Given the description of an element on the screen output the (x, y) to click on. 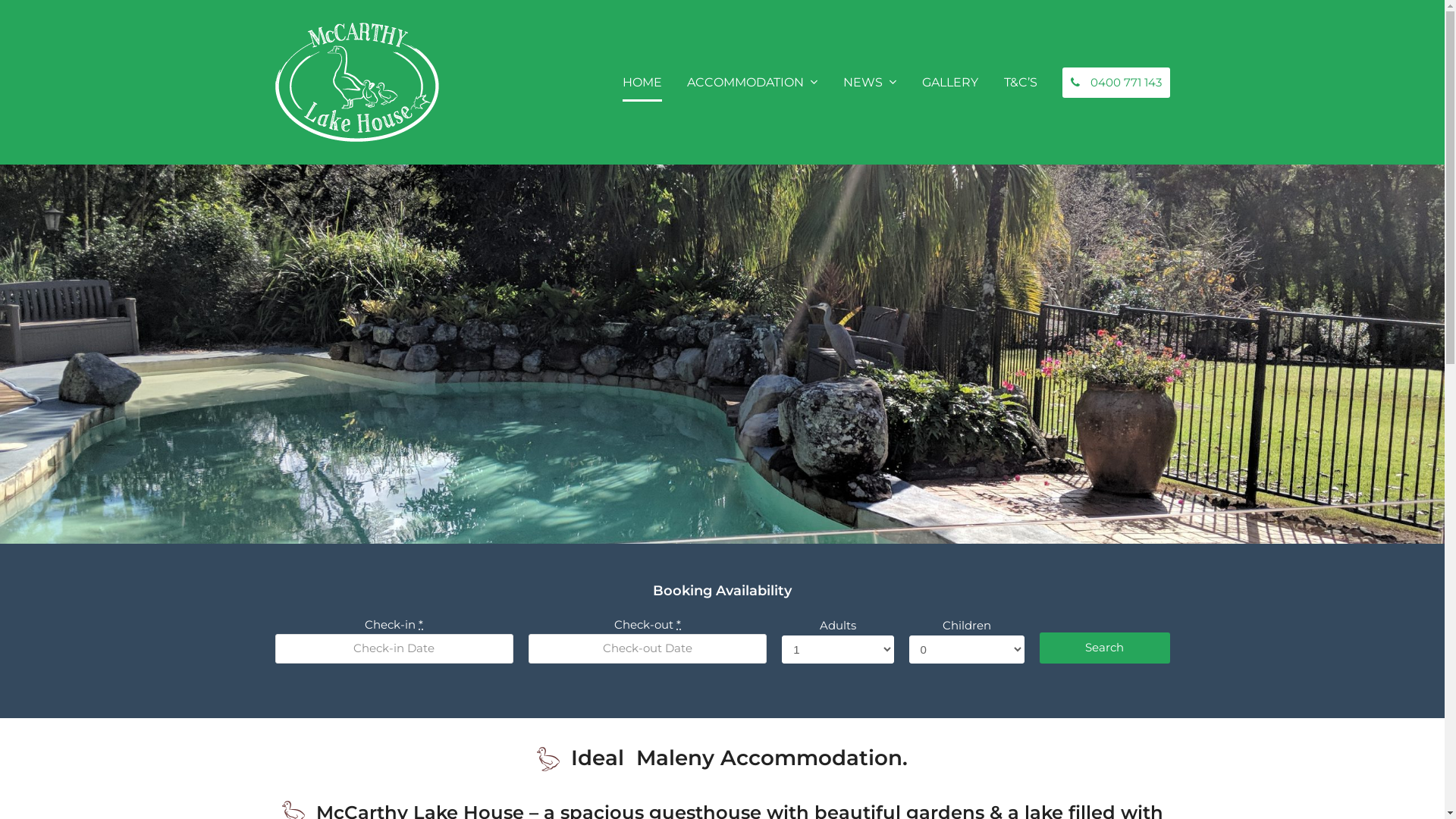
GALLERY Element type: text (950, 82)
ACCOMMODATION Element type: text (752, 82)
NEWS Element type: text (869, 82)
0400 771 143 Element type: text (1115, 82)
HOME Element type: text (642, 82)
Search Element type: text (1104, 647)
